Given the description of an element on the screen output the (x, y) to click on. 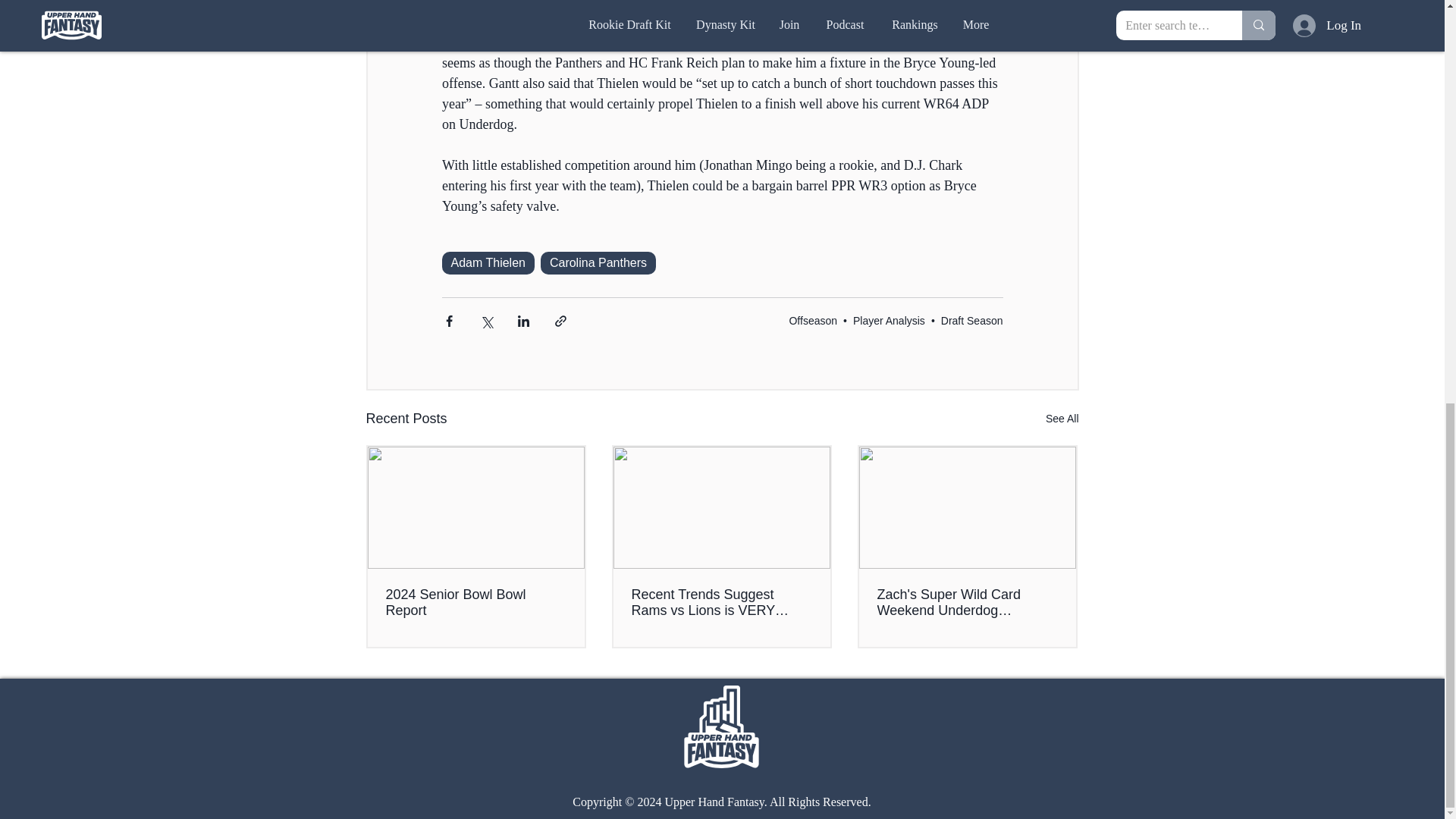
Offseason (813, 320)
Player Analysis (888, 320)
Adam Thielen (487, 262)
Carolina Panthers (598, 262)
